Given the description of an element on the screen output the (x, y) to click on. 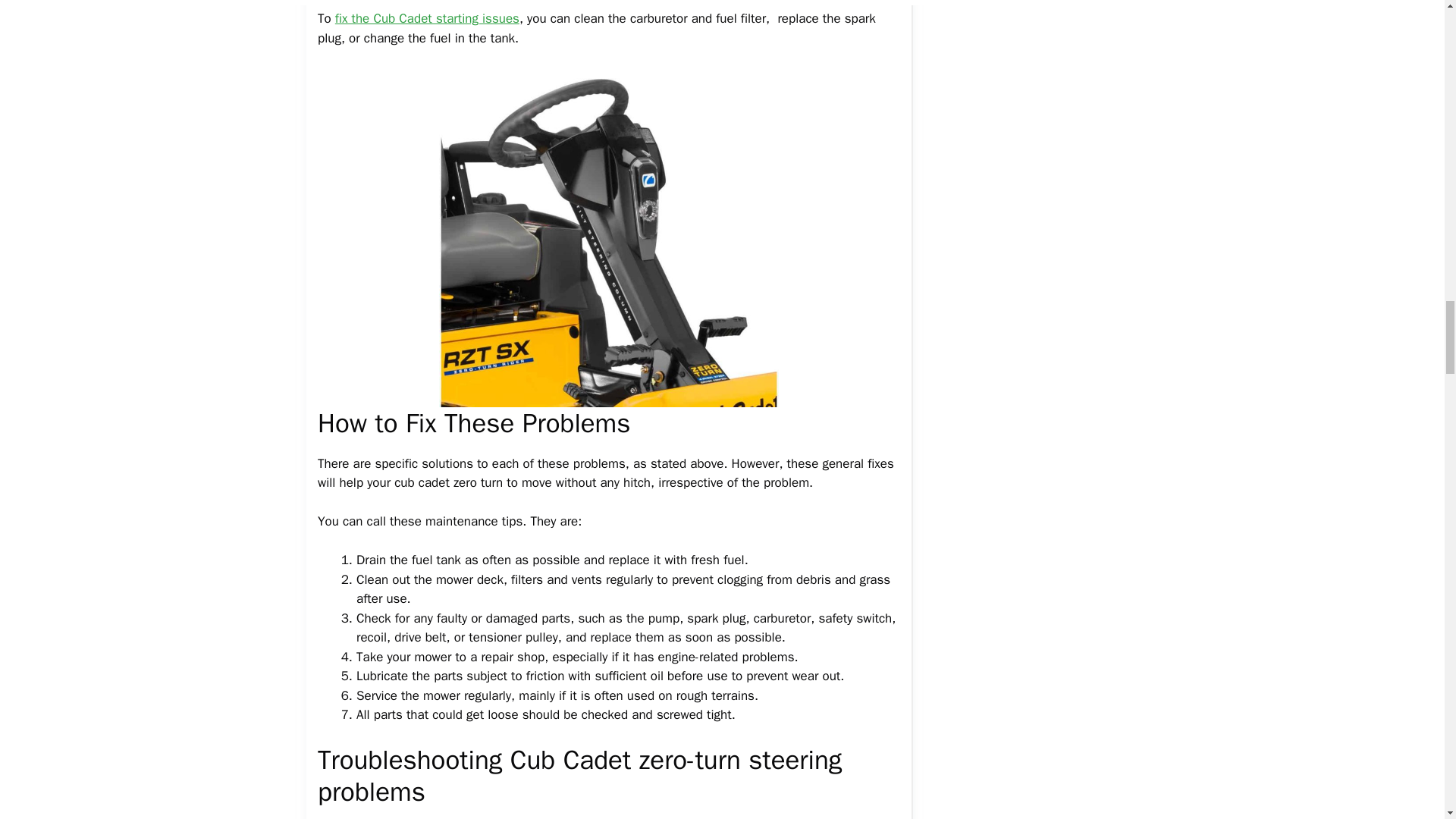
fix the Cub Cadet starting issues (426, 18)
